Given the description of an element on the screen output the (x, y) to click on. 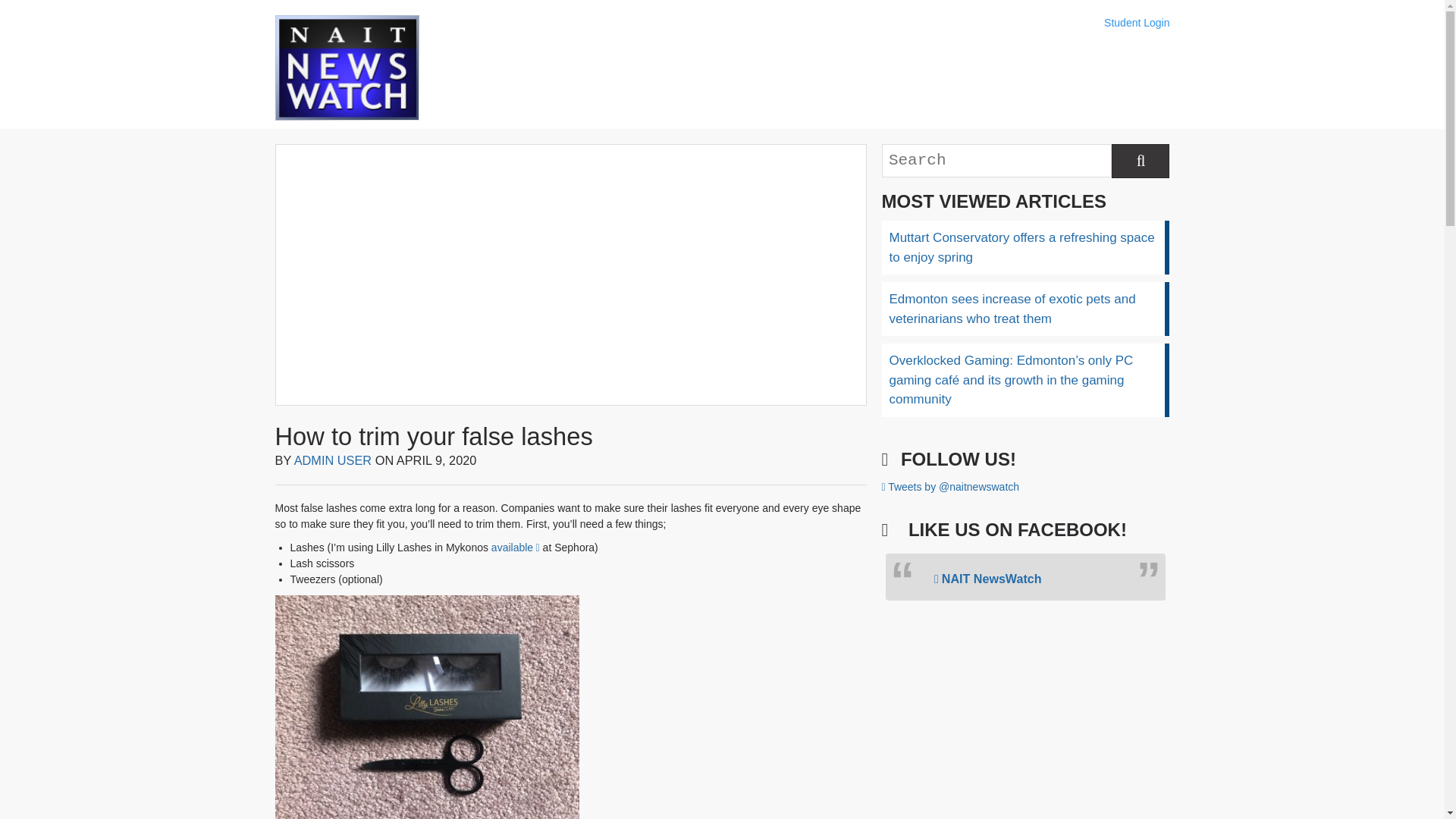
News (496, 68)
NAIT NewsWatch (988, 578)
Second Edition (684, 68)
available (516, 547)
Archive (968, 68)
Student Login (1136, 23)
Personalities (874, 68)
ADMIN USER (333, 459)
Recipes (778, 68)
